Given the description of an element on the screen output the (x, y) to click on. 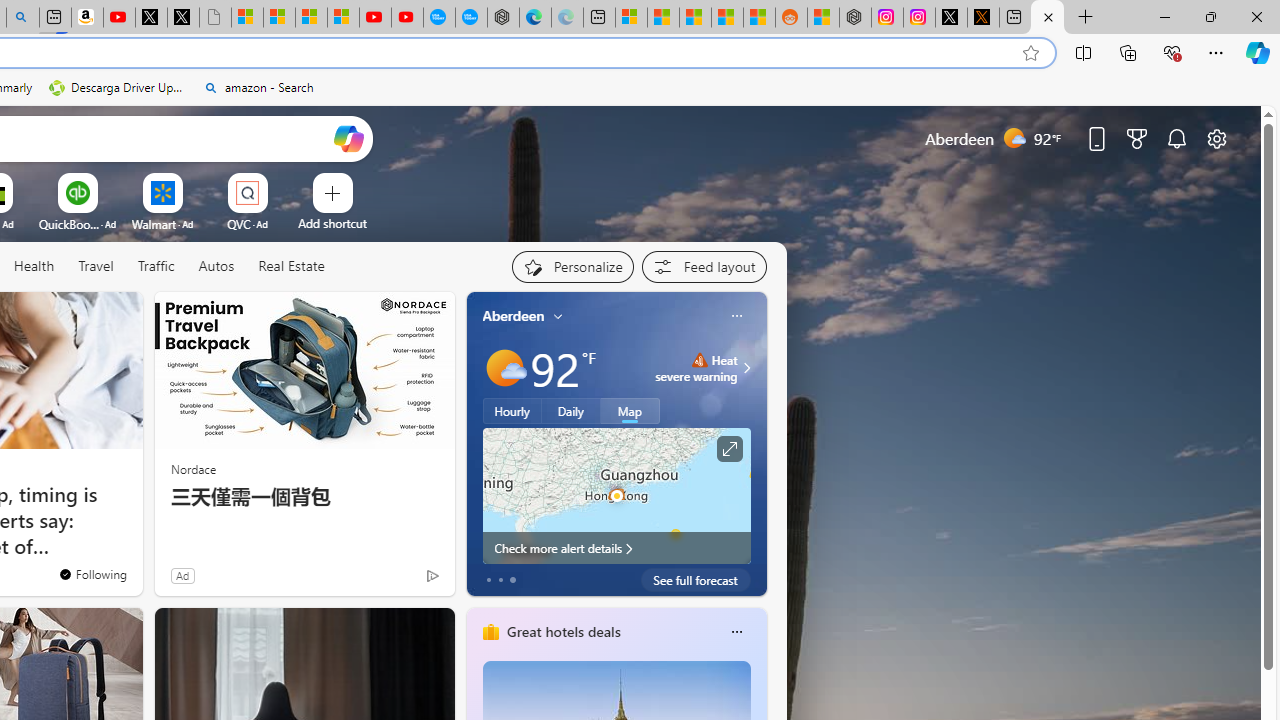
Shanghai, China hourly forecast | Microsoft Weather (694, 17)
You're following FOX News (92, 573)
Add a site (332, 223)
